Given the description of an element on the screen output the (x, y) to click on. 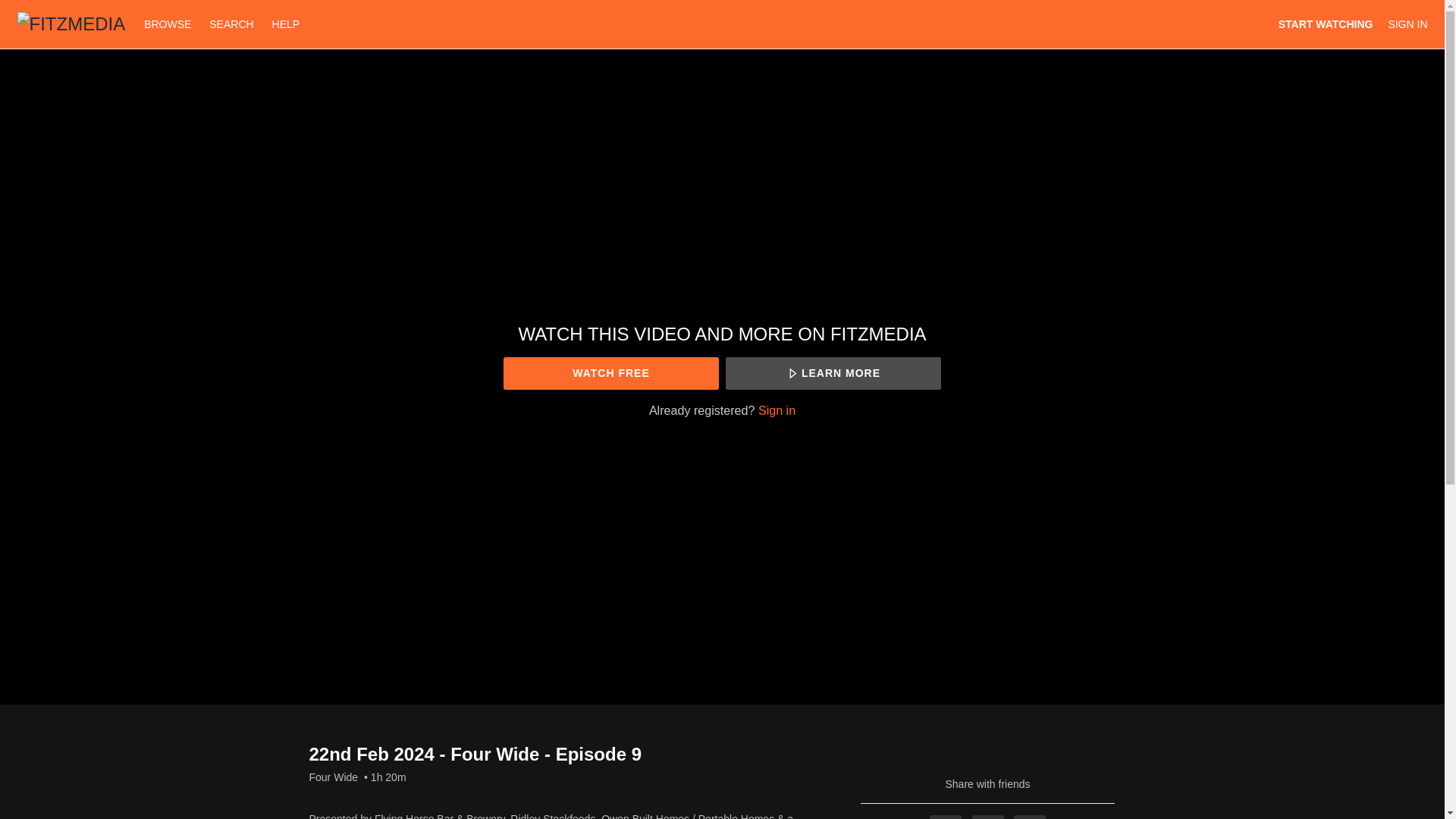
SEARCH (232, 24)
SIGN IN (1406, 24)
WATCH FREE (610, 373)
BROWSE (169, 24)
LEARN MORE (832, 373)
Email (1029, 816)
HELP (285, 24)
Skip to main content (48, 7)
Sign in (776, 409)
Facebook (945, 816)
Twitter (988, 816)
START WATCHING (1325, 24)
Four Wide (333, 776)
